Given the description of an element on the screen output the (x, y) to click on. 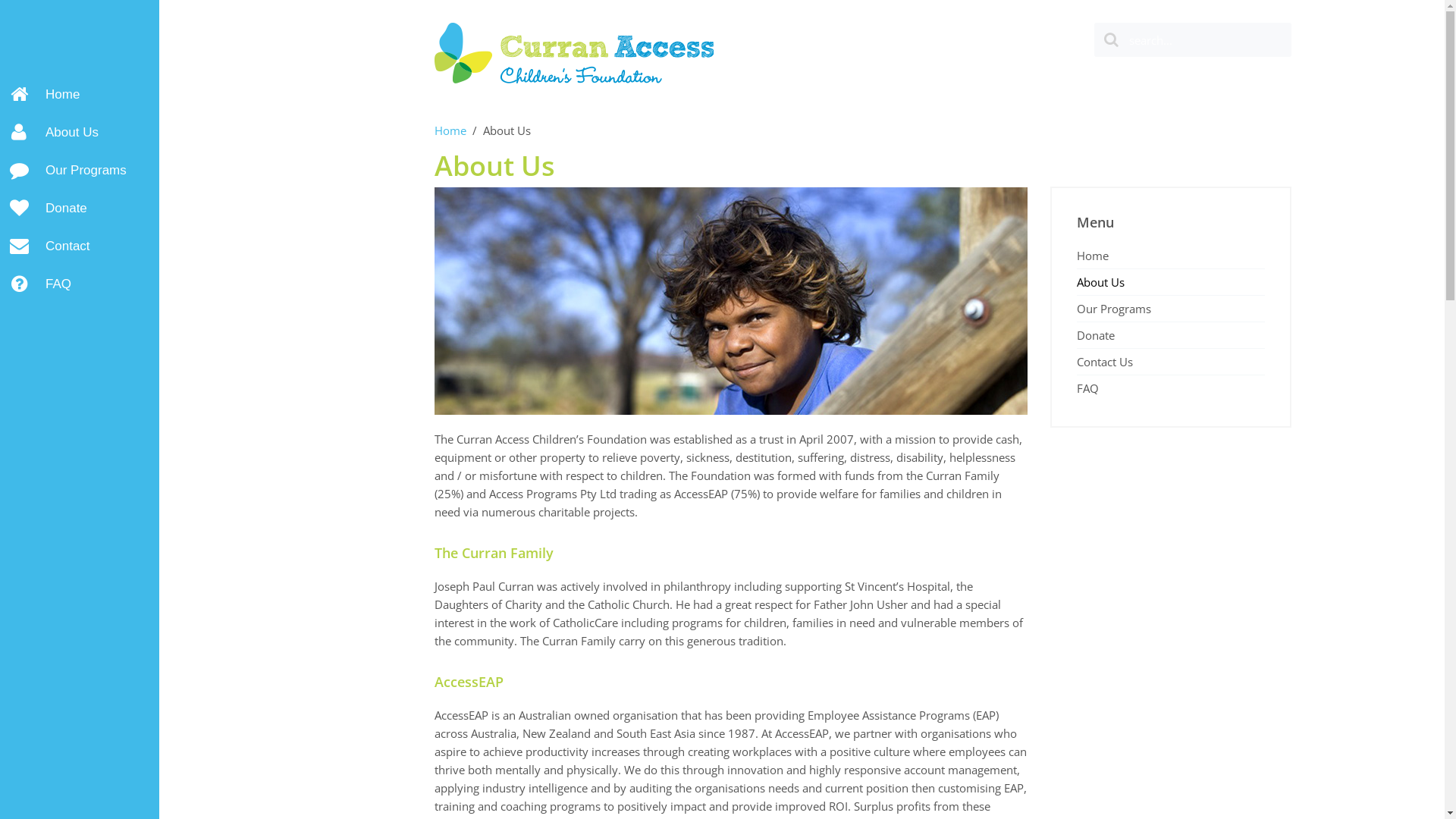
Contact Element type: text (79, 246)
FAQ Element type: text (1170, 387)
Our Programs Element type: text (1170, 307)
FAQ Element type: text (79, 284)
Donate Element type: text (1170, 334)
About Us Element type: text (79, 132)
Home Element type: text (1170, 255)
Our Programs Element type: text (79, 170)
Home Element type: text (449, 130)
Contact Us Element type: text (1170, 361)
Home Element type: text (79, 94)
Donate Element type: text (79, 208)
About Us Element type: text (1170, 281)
